Given the description of an element on the screen output the (x, y) to click on. 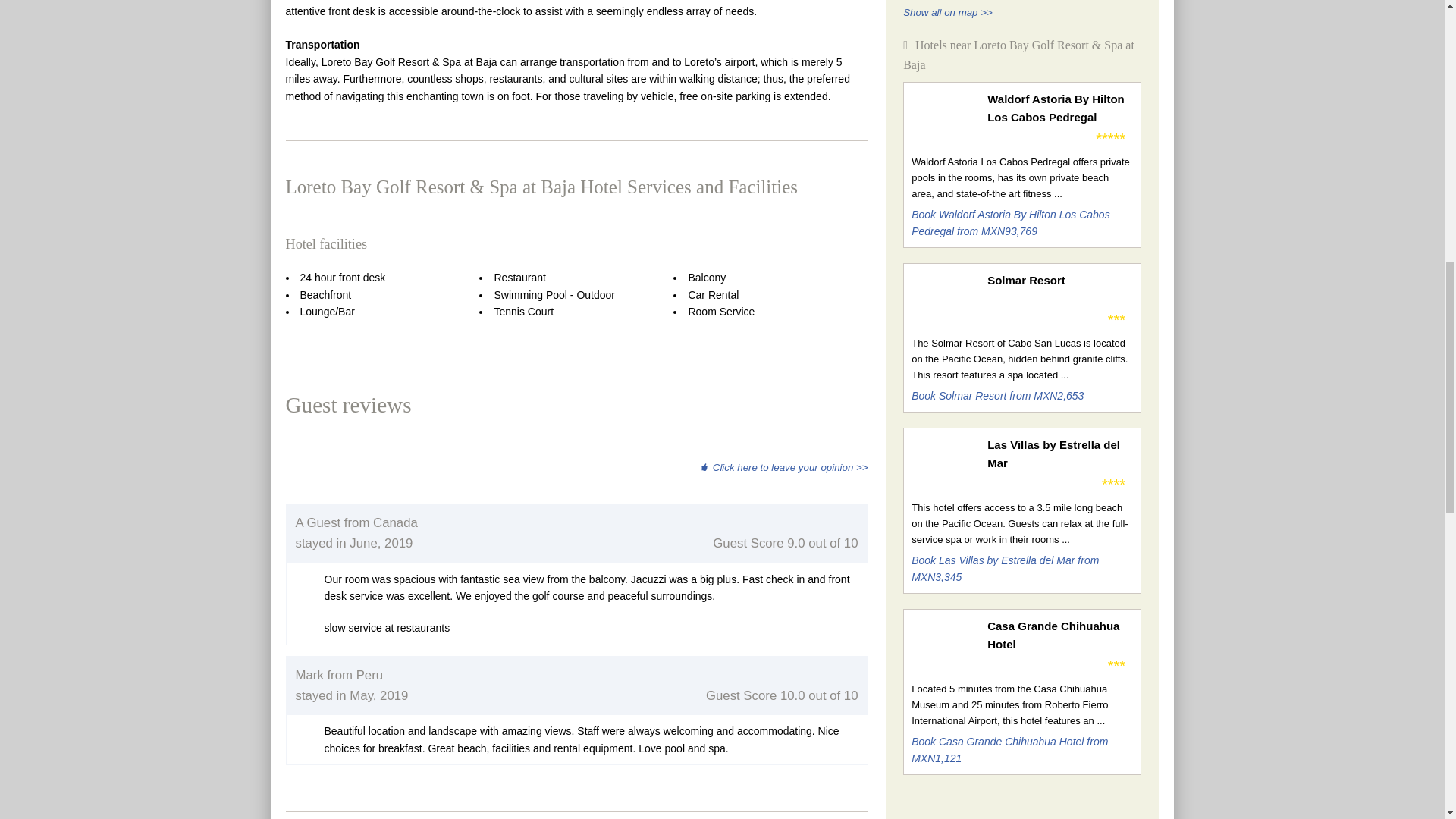
Waldorf Astoria By Hilton Los Cabos Pedregal (1059, 108)
Book Las Villas by Estrella del Mar from MXN3,345 (1005, 567)
Book Casa Grande Chihuahua Hotel from MXN1,121 (1009, 749)
Las Villas by Estrella del Mar (1059, 453)
Solmar Resort (1059, 280)
Casa Grande Chihuahua Hotel (1059, 635)
Book Solmar Resort from MXN2,653 (997, 395)
